Given the description of an element on the screen output the (x, y) to click on. 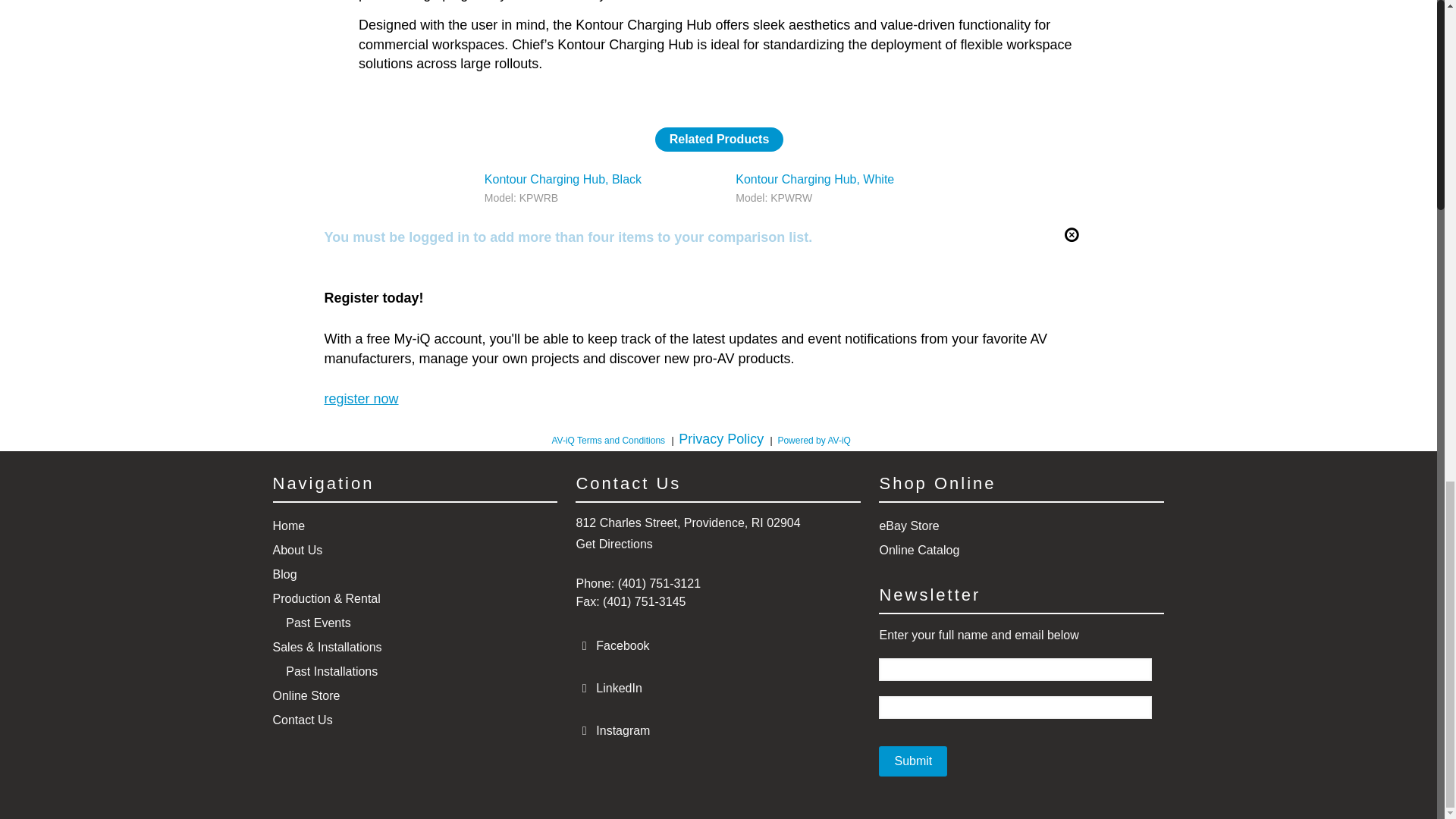
Submit (913, 761)
